Given the description of an element on the screen output the (x, y) to click on. 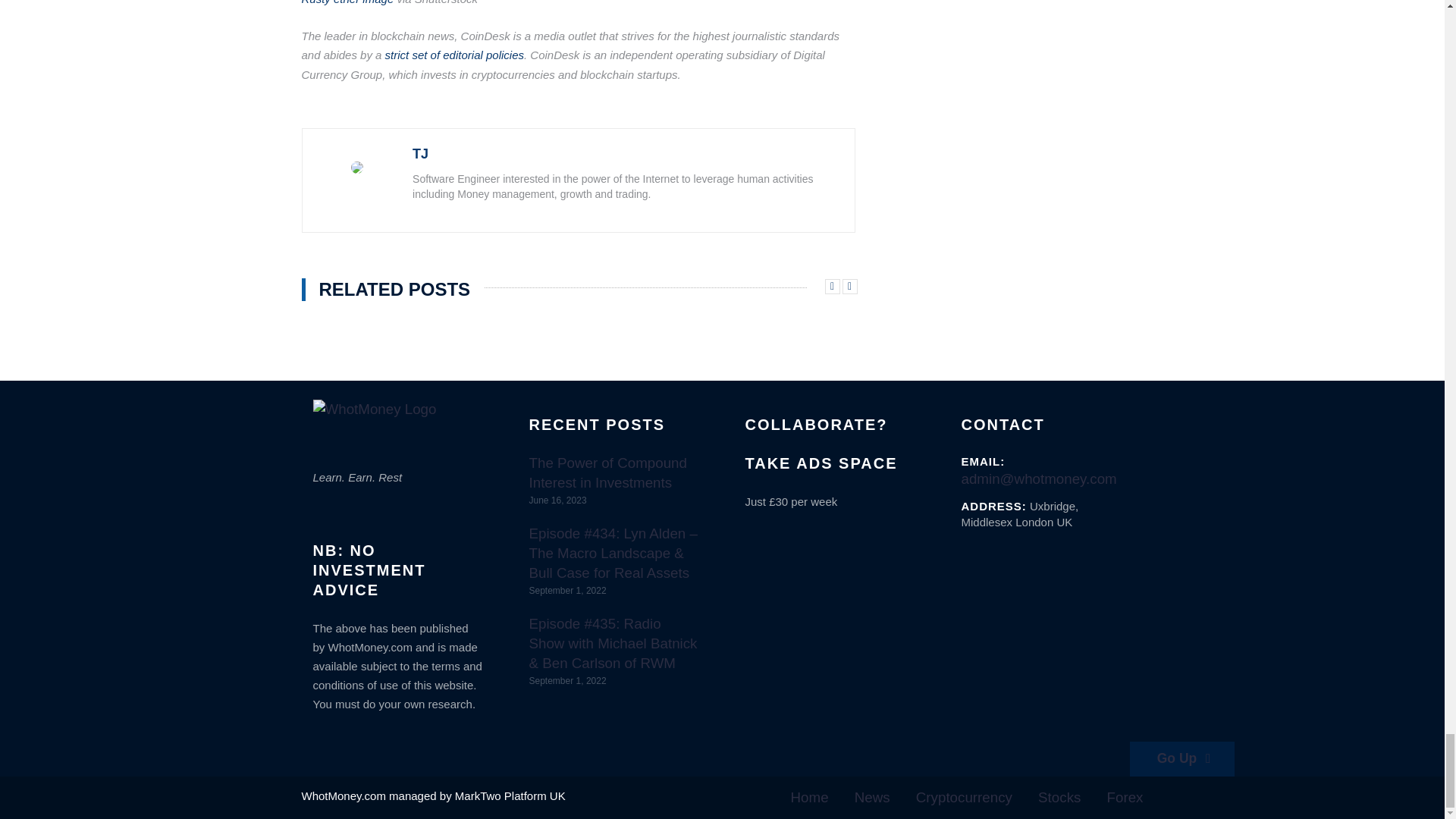
Posts by TJ (420, 153)
